Given the description of an element on the screen output the (x, y) to click on. 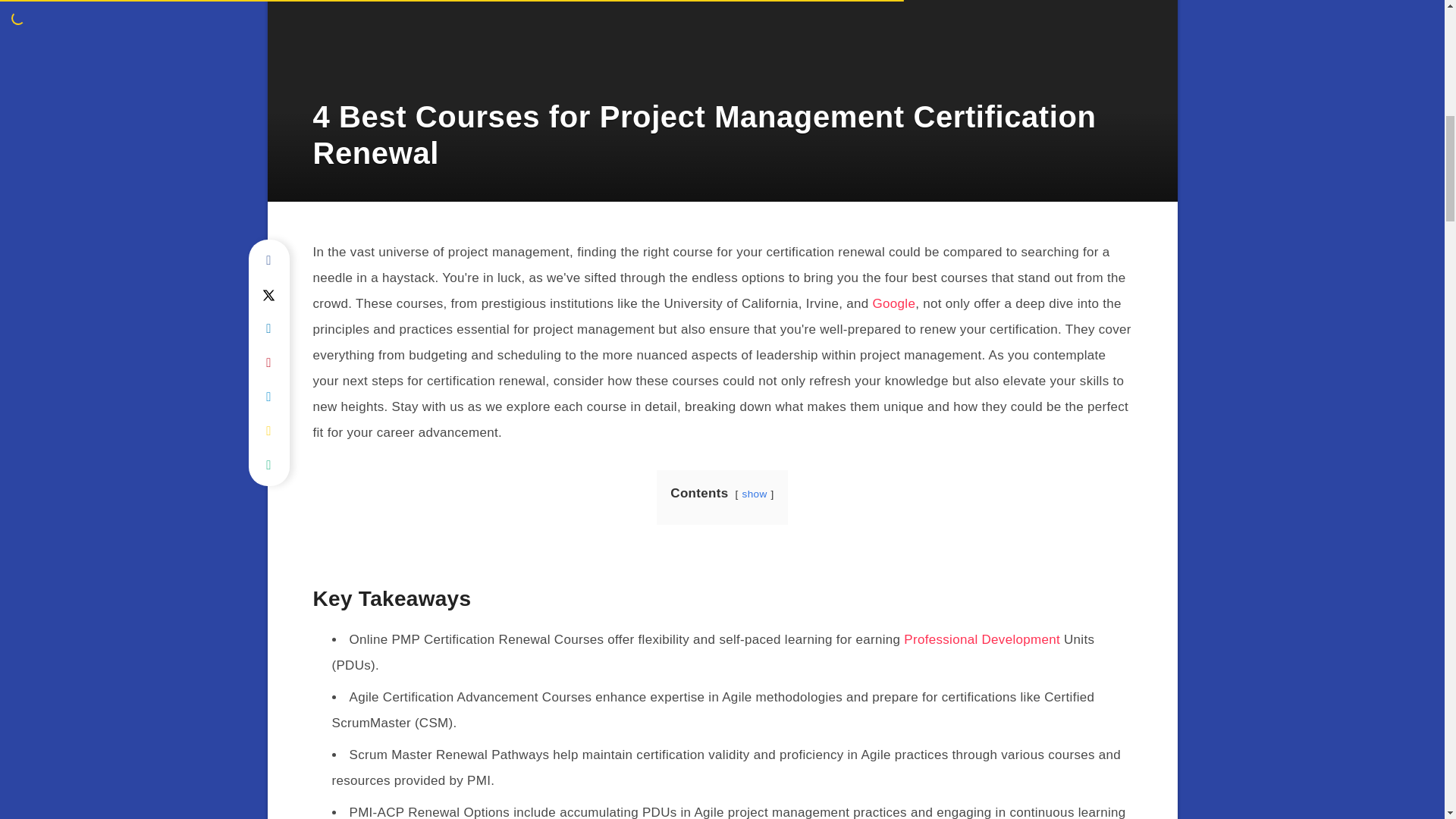
Professional Development (981, 639)
show (754, 493)
Google (893, 303)
